Given the description of an element on the screen output the (x, y) to click on. 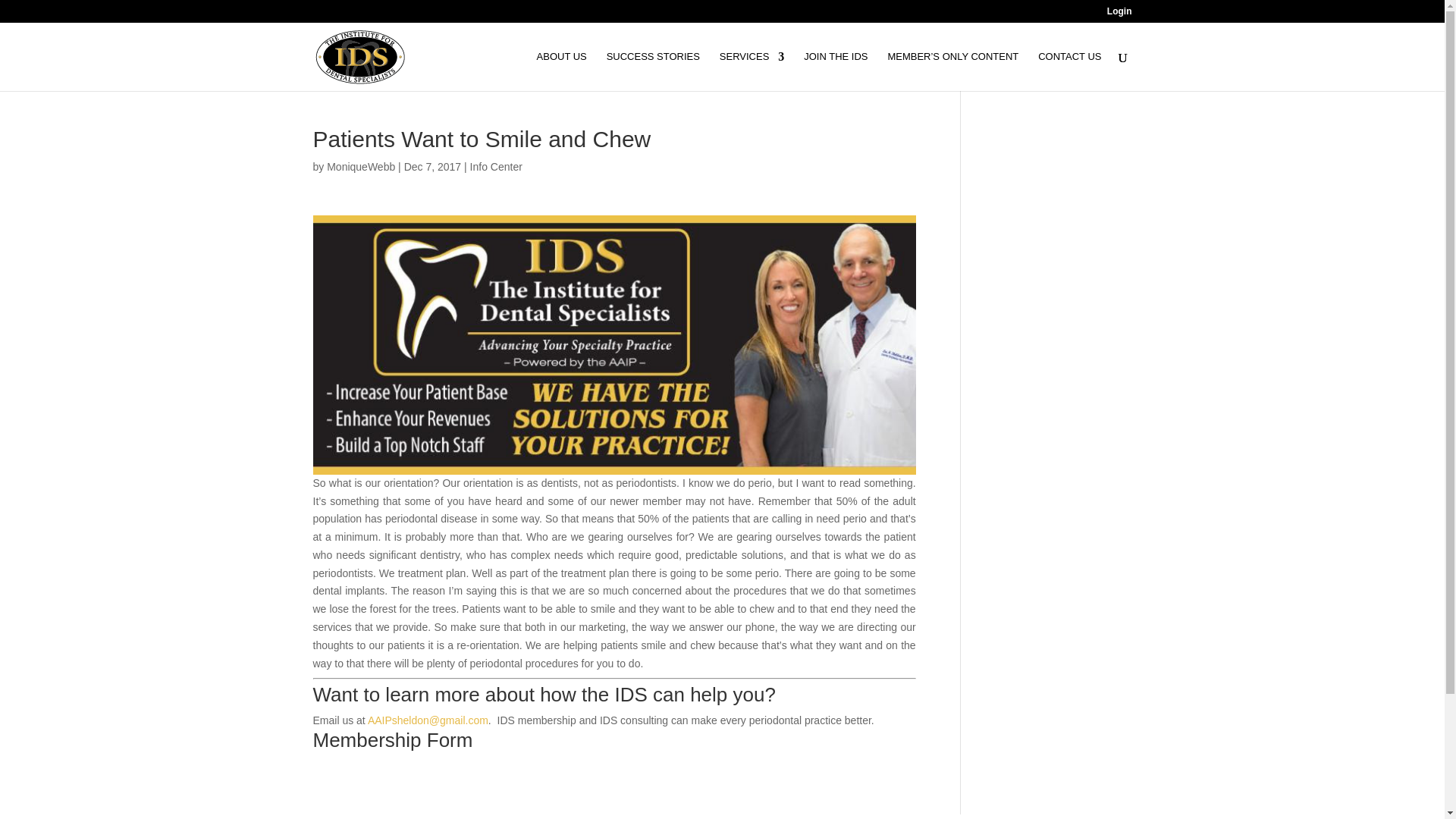
Info Center (496, 166)
JOIN THE IDS (835, 70)
Login (1119, 14)
Membership Form (392, 739)
SUCCESS STORIES (653, 70)
MoniqueWebb (360, 166)
ABOUT US (561, 70)
CONTACT US (1069, 70)
Posts by MoniqueWebb (360, 166)
SERVICES (751, 70)
